Given the description of an element on the screen output the (x, y) to click on. 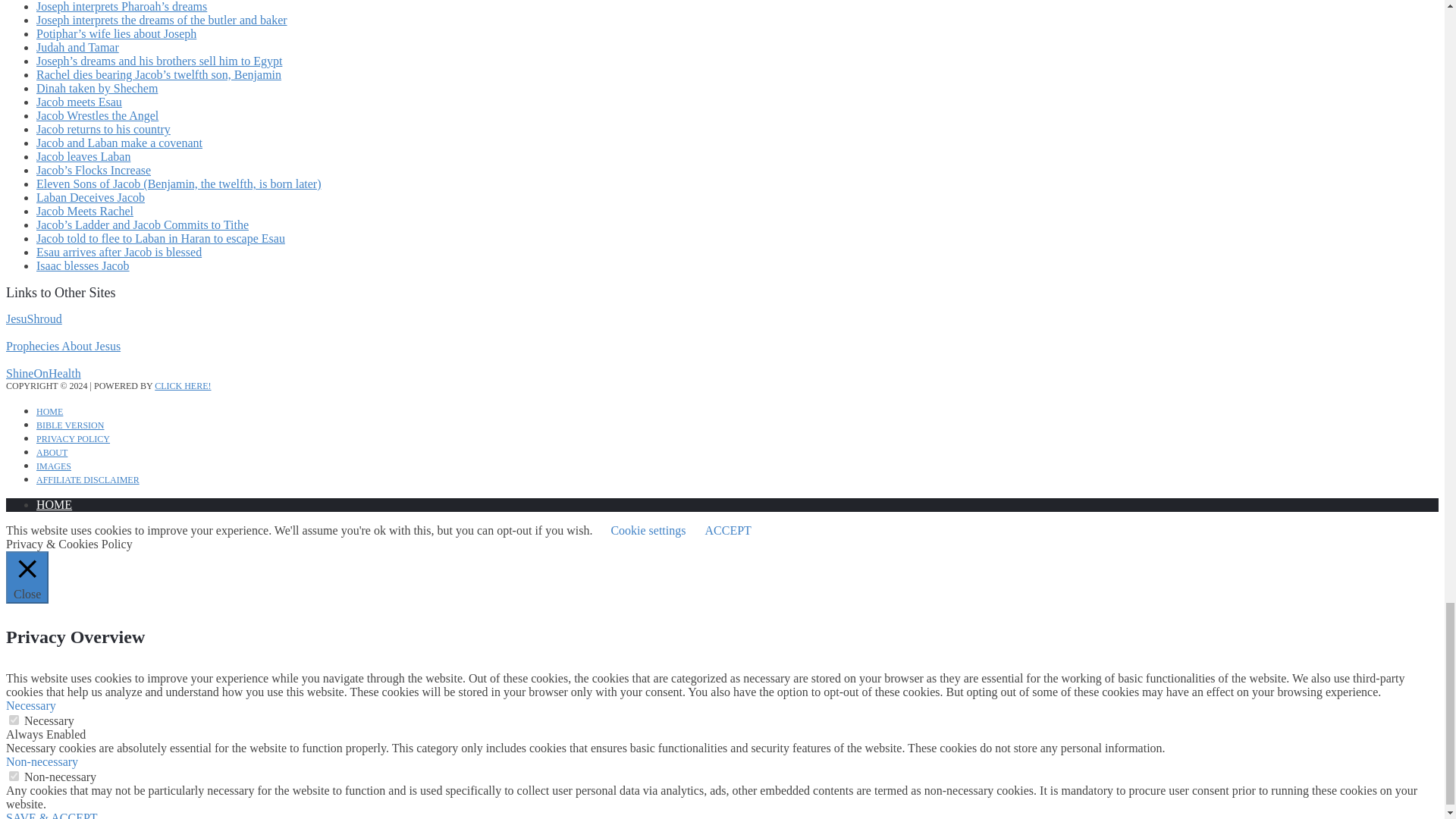
Joseph interprets the dreams of the butler and baker (161, 19)
Jacob meets Esau (79, 101)
on (13, 776)
Dinah taken by Shechem (96, 88)
Judah and Tamar (77, 47)
on (13, 719)
